Given the description of an element on the screen output the (x, y) to click on. 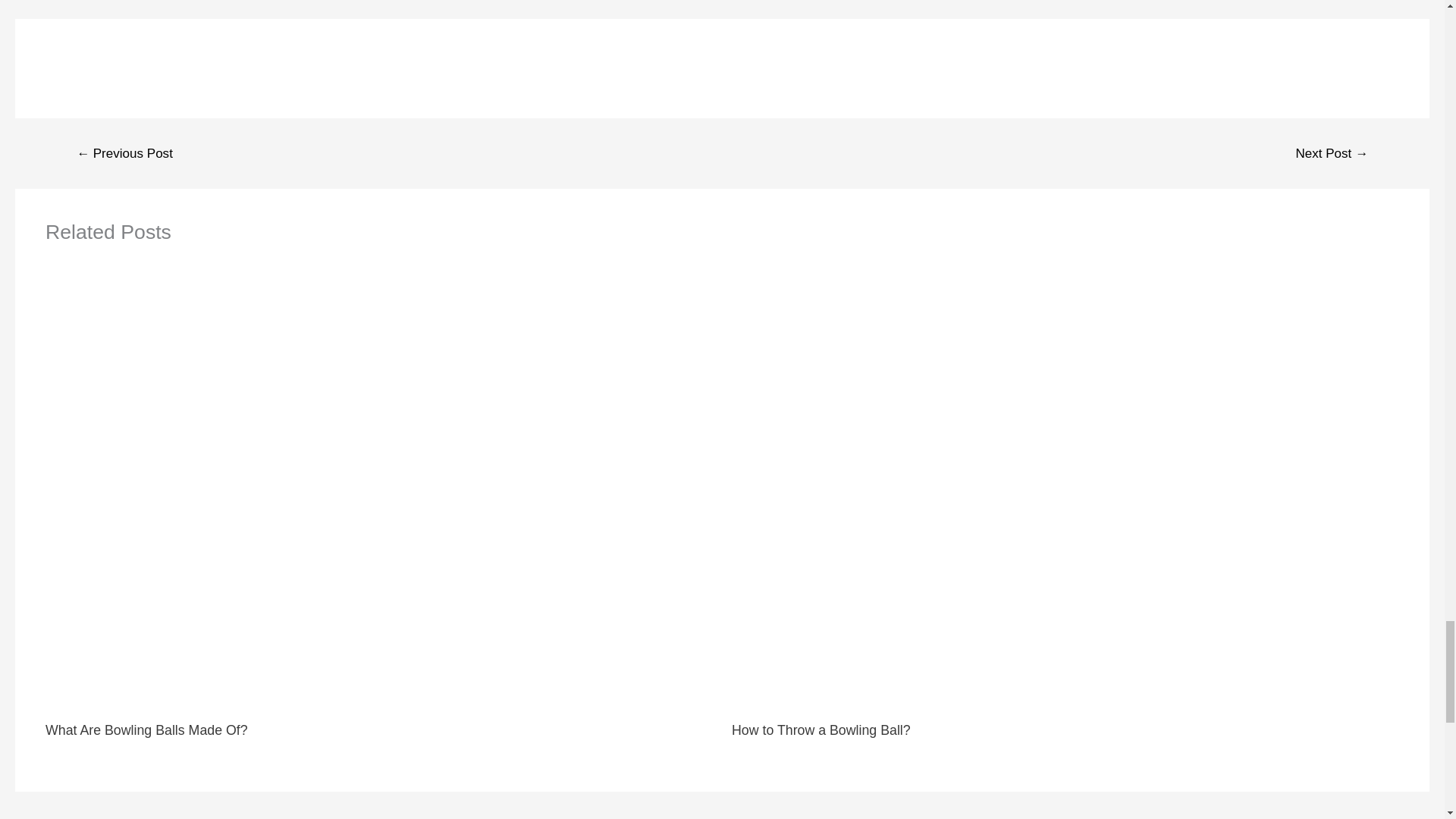
What Are Bowling Balls Made Of? (146, 729)
How to Throw a Bowling Ball? (821, 729)
